Given the description of an element on the screen output the (x, y) to click on. 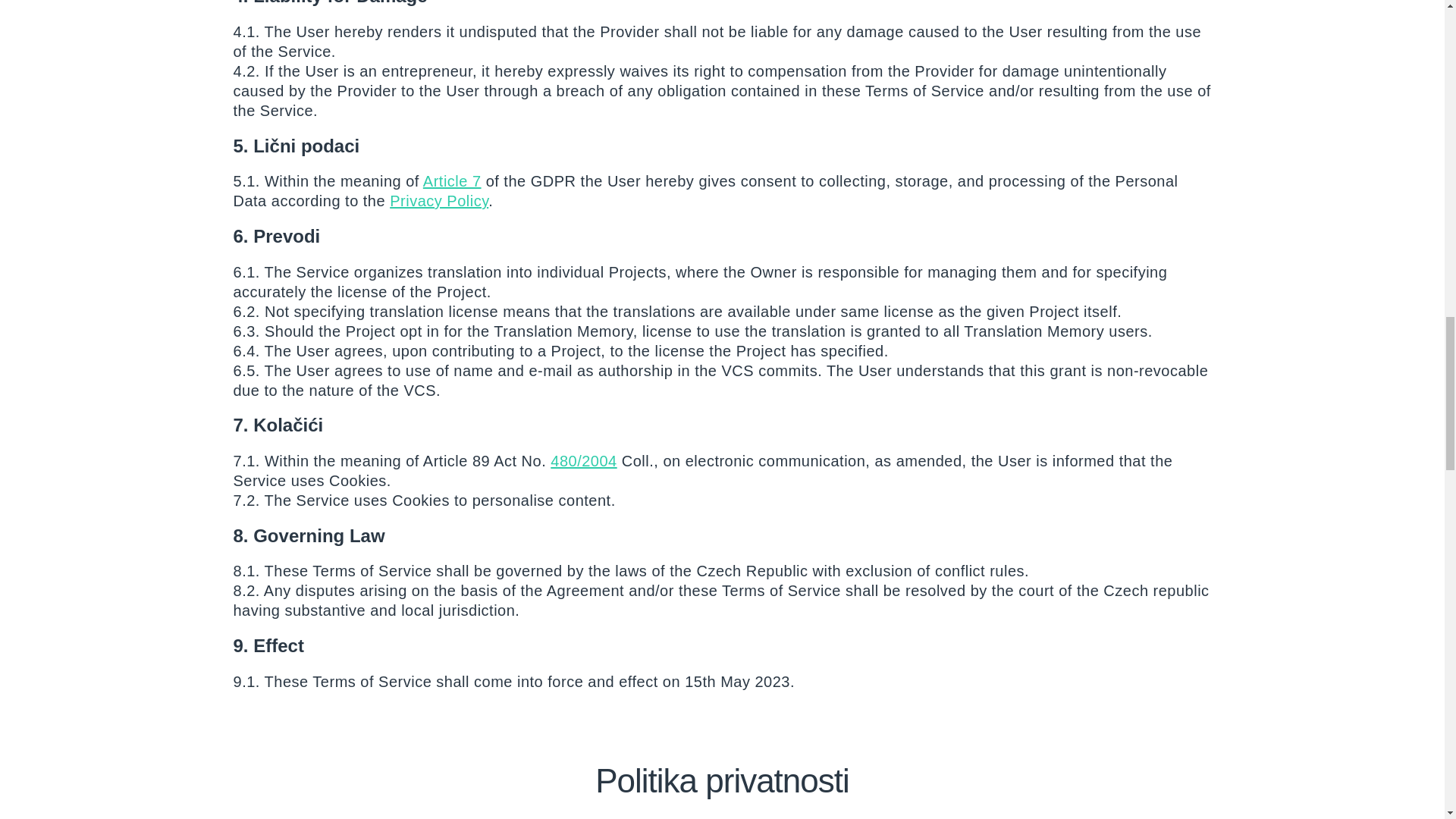
Privacy Policy (438, 200)
Article 7 (452, 180)
